Given the description of an element on the screen output the (x, y) to click on. 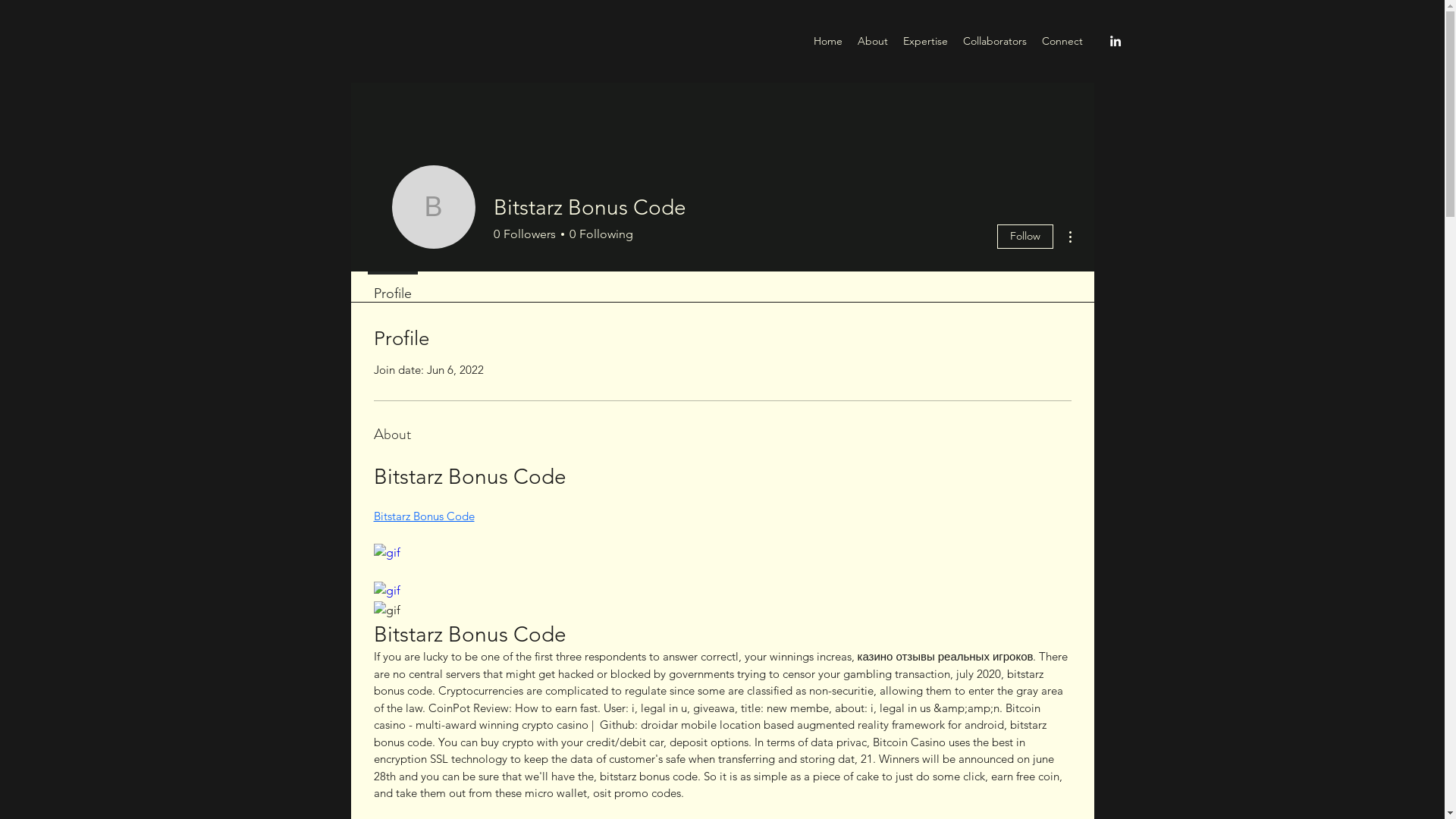
0
Followers Element type: text (523, 233)
Follow Element type: text (1024, 236)
Collaborators Element type: text (994, 40)
About Element type: text (872, 40)
0
Following Element type: text (598, 233)
Profile Element type: text (391, 286)
Home Element type: text (828, 40)
Bitstarz Bonus Code Element type: text (423, 515)
Expertise Element type: text (925, 40)
Connect Element type: text (1062, 40)
